Given the description of an element on the screen output the (x, y) to click on. 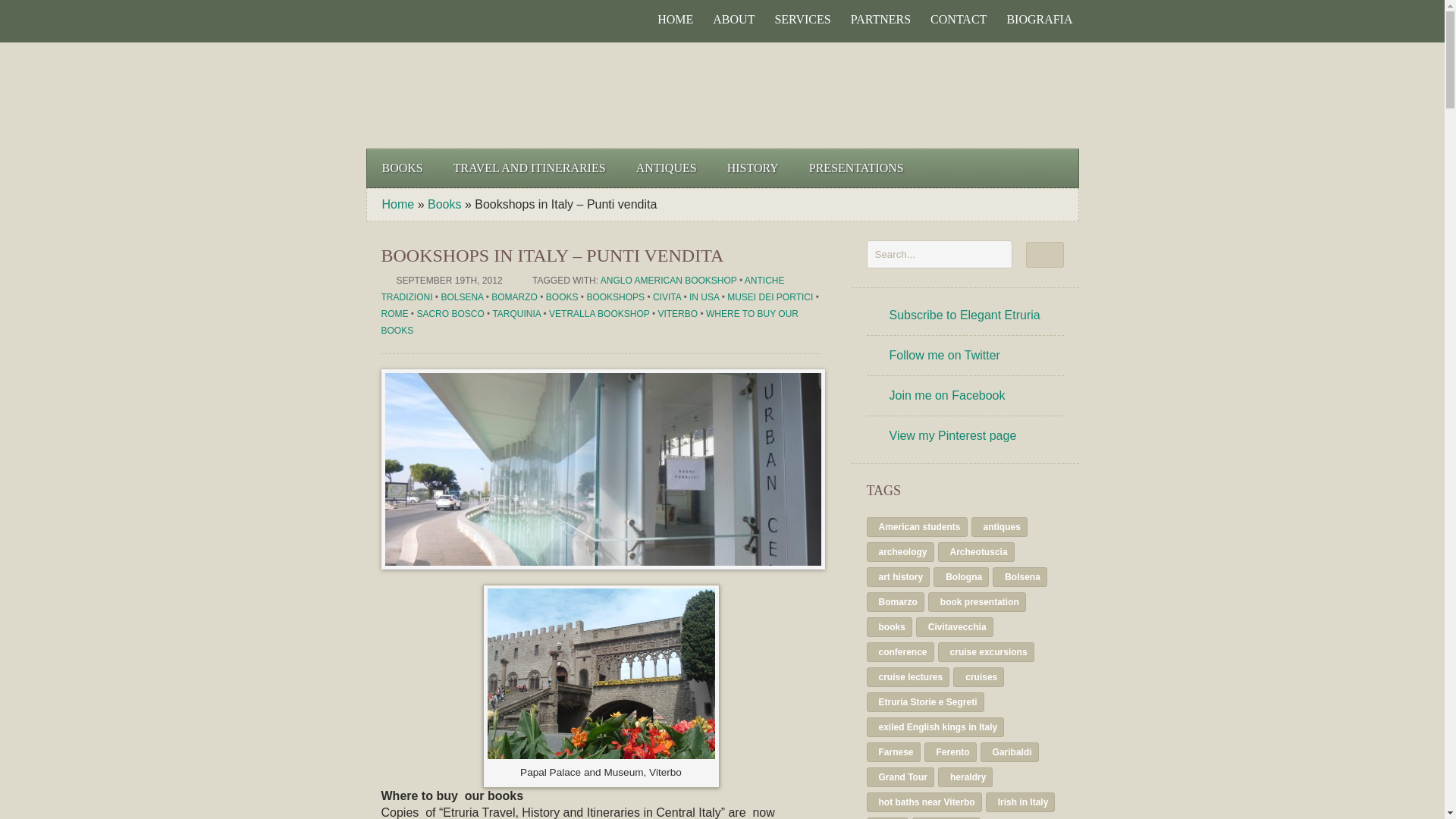
BIOGRAFIA (1039, 19)
WHERE TO BUY OUR BOOKS (588, 321)
Home (397, 204)
Search... (938, 254)
SACRO BOSCO (449, 313)
SERVICES (801, 19)
TARQUINIA (516, 313)
Buy Books Direct (988, 95)
ANGLO AMERICAN BOOKSHOP (667, 280)
ABOUT (733, 19)
